Given the description of an element on the screen output the (x, y) to click on. 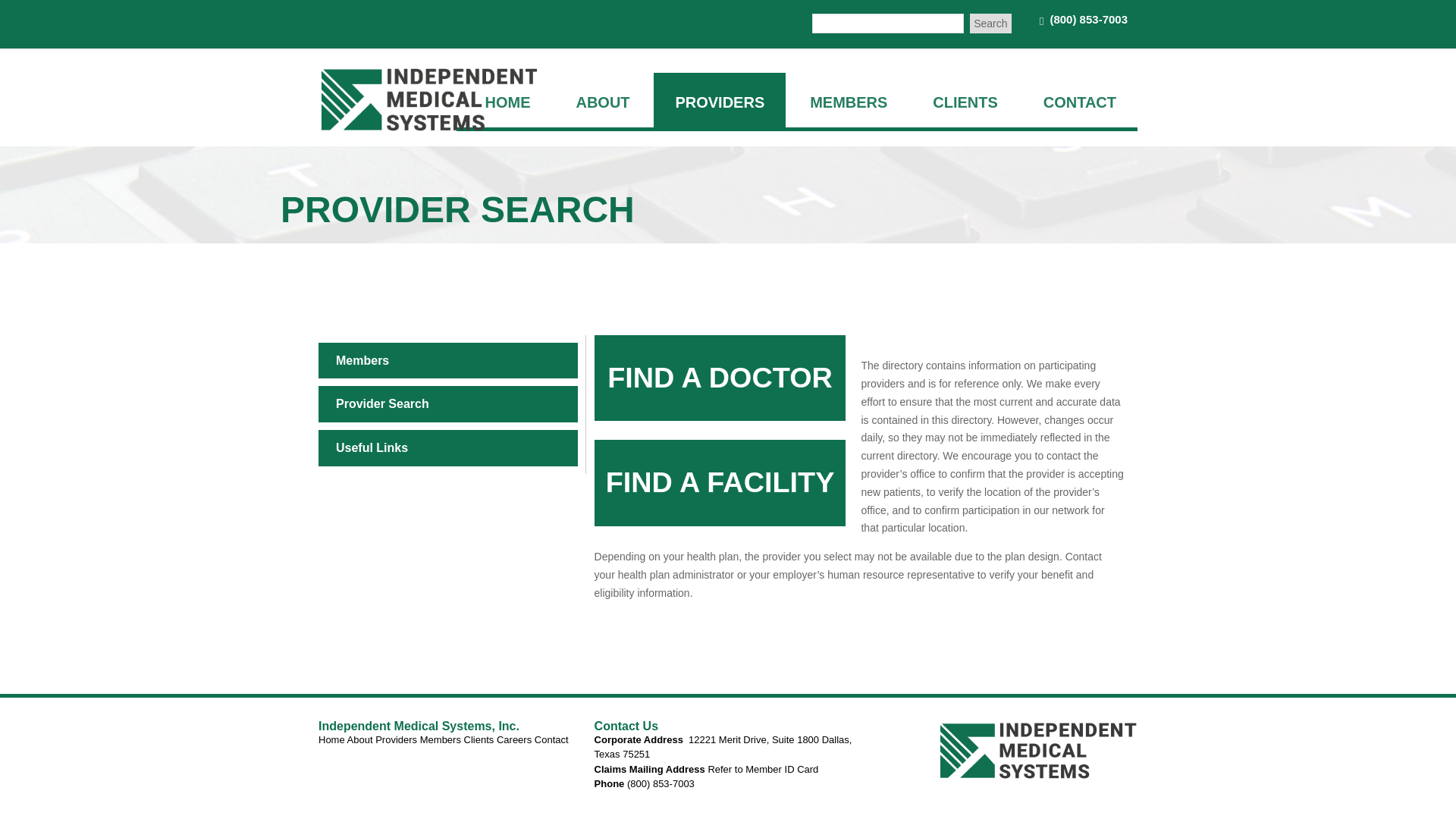
FIND A DOCTOR (719, 377)
Page 1 (727, 755)
HOME (507, 99)
Members (440, 739)
FIND A FACILITY (719, 481)
Providers (395, 739)
Search (990, 23)
Clients (479, 739)
MEMBERS (848, 99)
Search (990, 23)
Careers (513, 739)
Provider Search (382, 403)
Search (990, 23)
PROVIDERS (719, 99)
CLIENTS (965, 99)
